Given the description of an element on the screen output the (x, y) to click on. 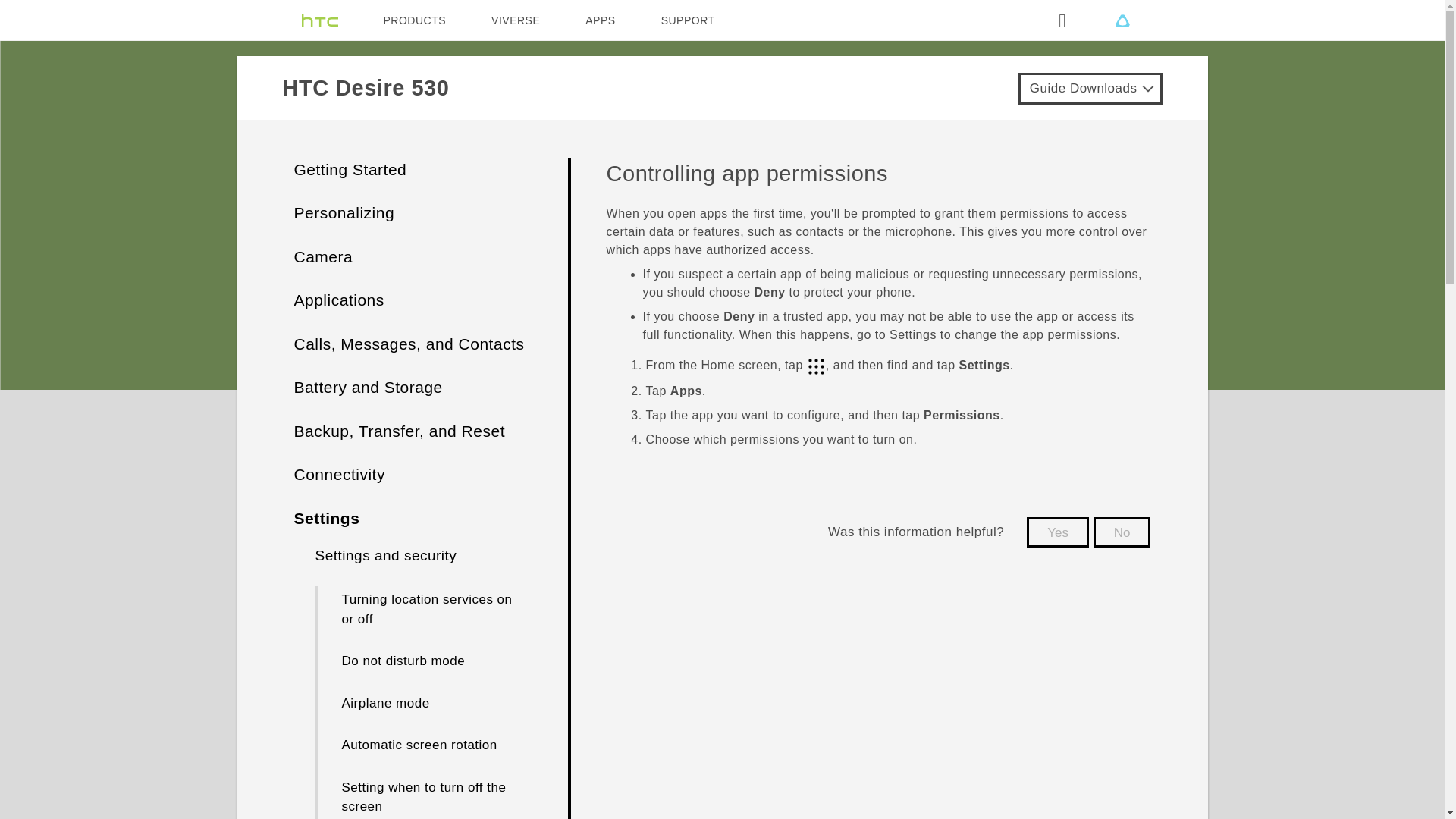
Getting Started (350, 169)
SUPPORT (687, 20)
VIVERSE (516, 20)
PRODUCTS (415, 20)
